Given the description of an element on the screen output the (x, y) to click on. 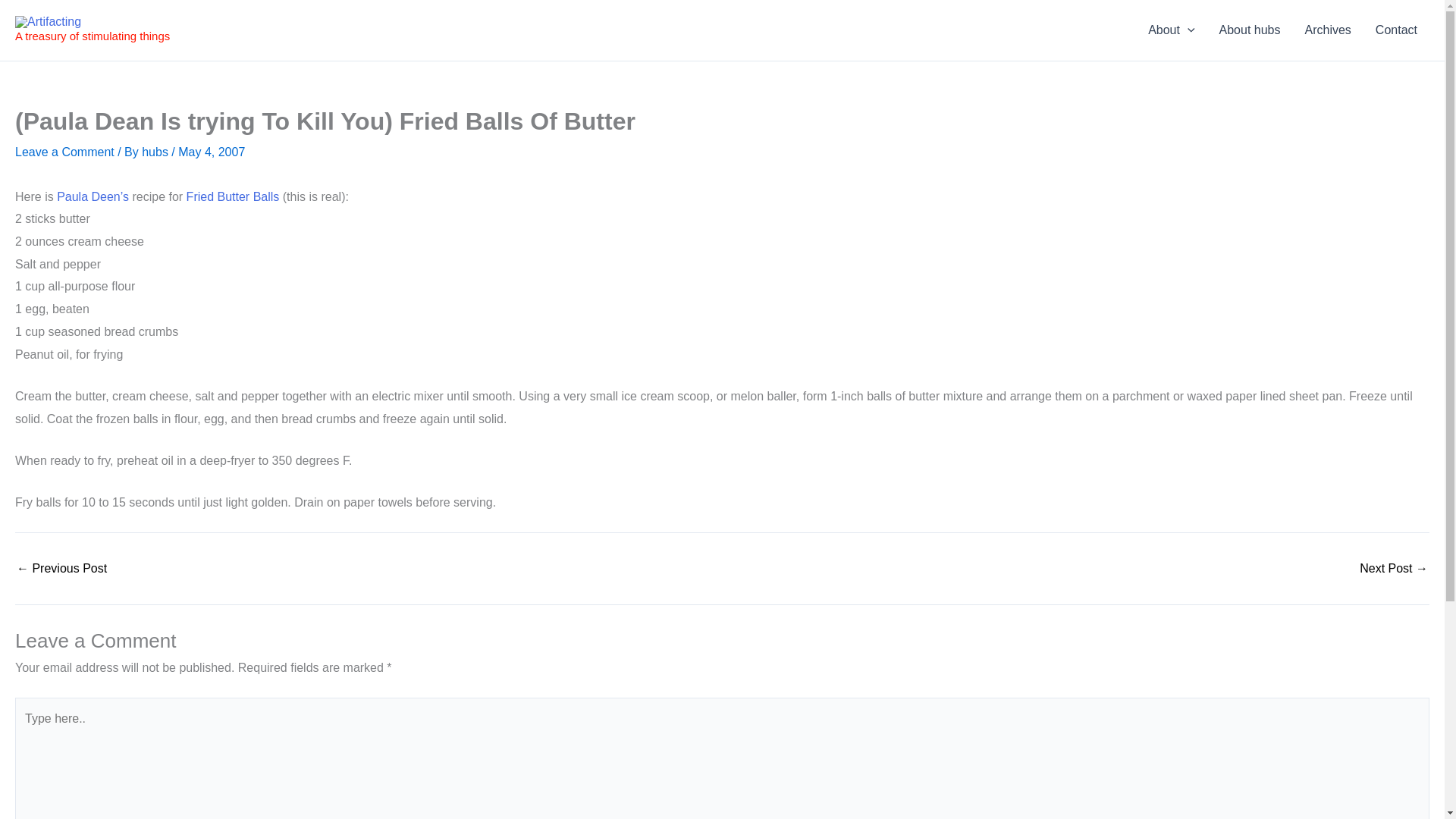
View all posts by hubs (156, 151)
hubs (156, 151)
Mathematics In Movies (1393, 568)
About (1171, 30)
Fried Butter Balls (232, 196)
Contact (1395, 30)
Leave a Comment (64, 151)
Archives (1327, 30)
About hubs (1249, 30)
